Given the description of an element on the screen output the (x, y) to click on. 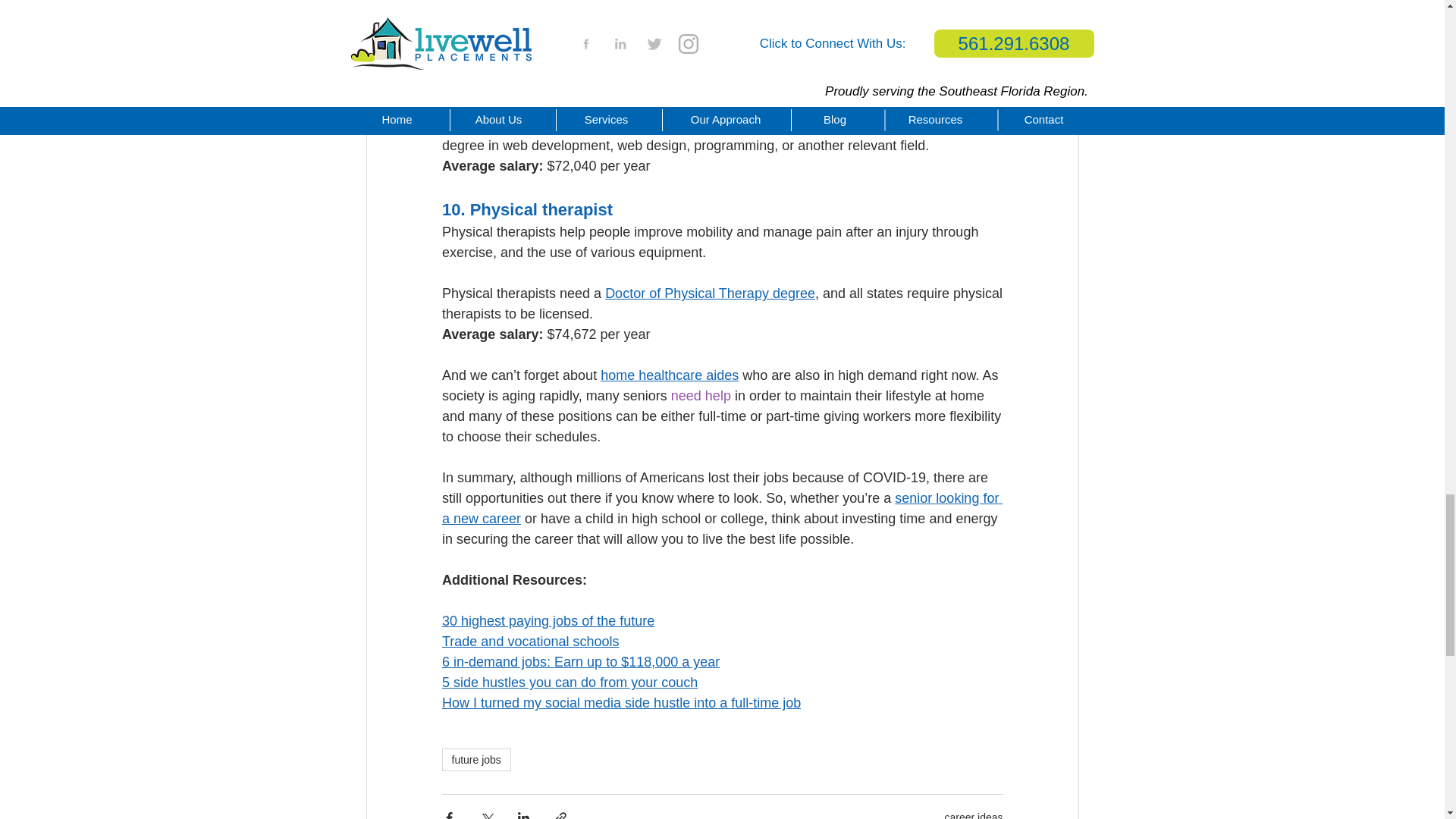
senior looking for a new career (721, 508)
5 side hustles you can do from your couch (569, 682)
Trade and vocational schools (529, 641)
home healthcare aides (668, 375)
30 highest paying jobs of the future (547, 620)
Doctor of Physical Therapy degree (710, 293)
need help (699, 395)
